Given the description of an element on the screen output the (x, y) to click on. 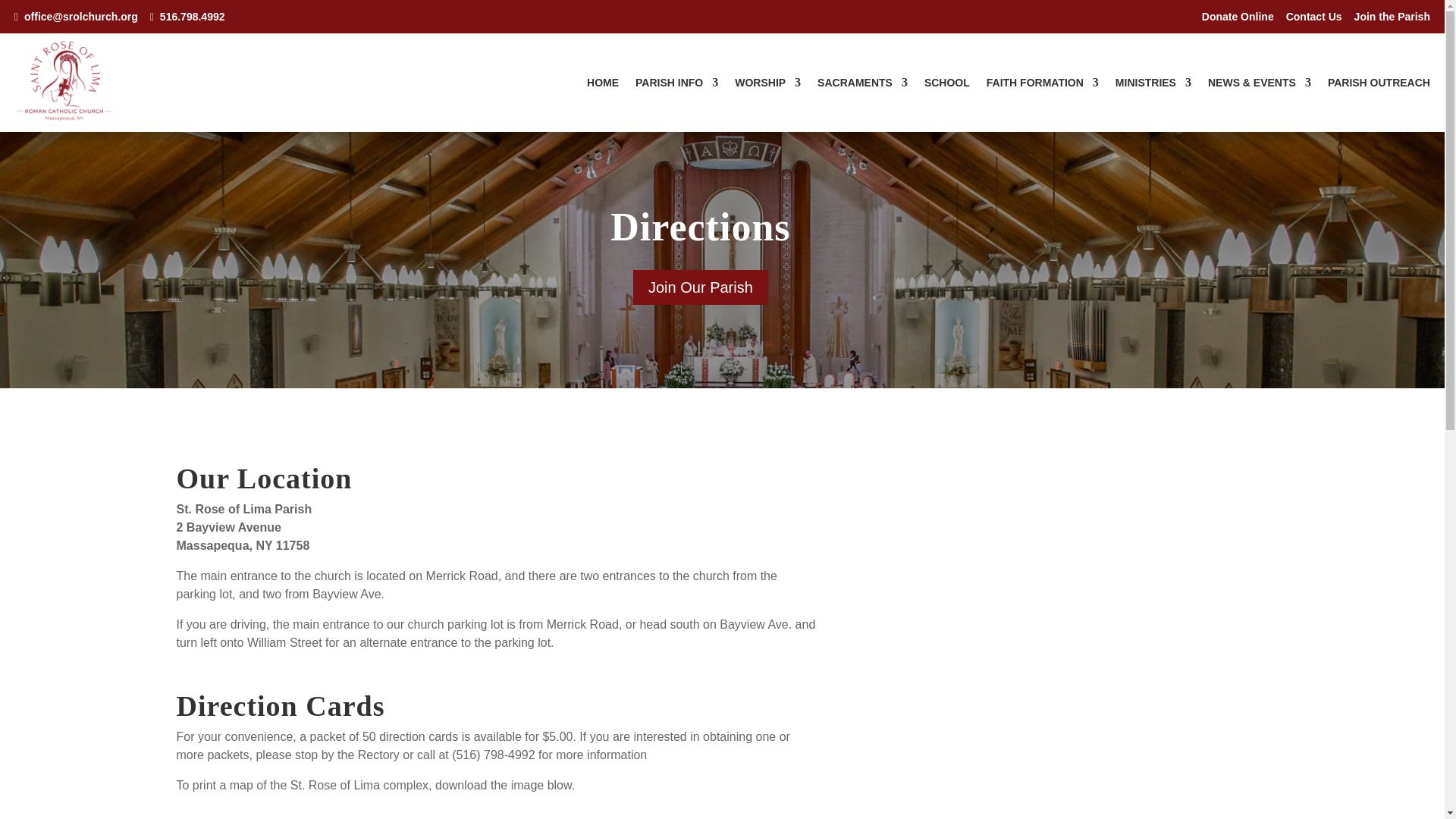
Join the Parish (1391, 16)
MINISTRIES (1153, 85)
516.798.4992 (187, 16)
SCHOOL (946, 85)
FAITH FORMATION (1043, 85)
HOME (602, 85)
SACRAMENTS (861, 85)
WORSHIP (767, 85)
Contact Us (1313, 16)
Donate Online (1238, 16)
PARISH INFO (675, 85)
